Given the description of an element on the screen output the (x, y) to click on. 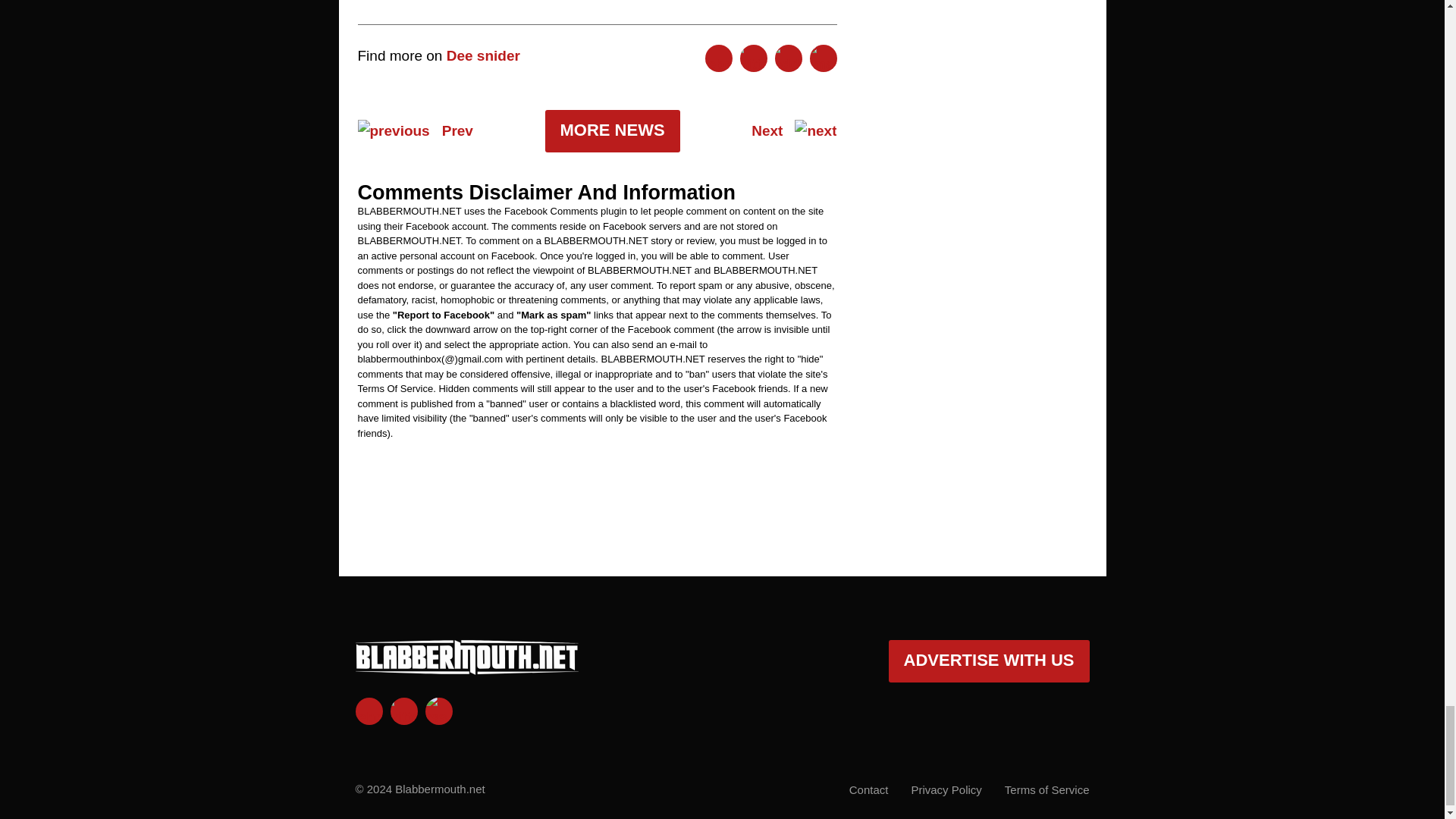
MORE NEWS (611, 130)
Share On Twitter (753, 58)
Share On Facebook (718, 58)
Dee snider (482, 55)
Copy To Clipboard (823, 58)
Next (793, 130)
Share On Reddit (788, 58)
Prev (415, 130)
blabbermouth (466, 668)
